Given the description of an element on the screen output the (x, y) to click on. 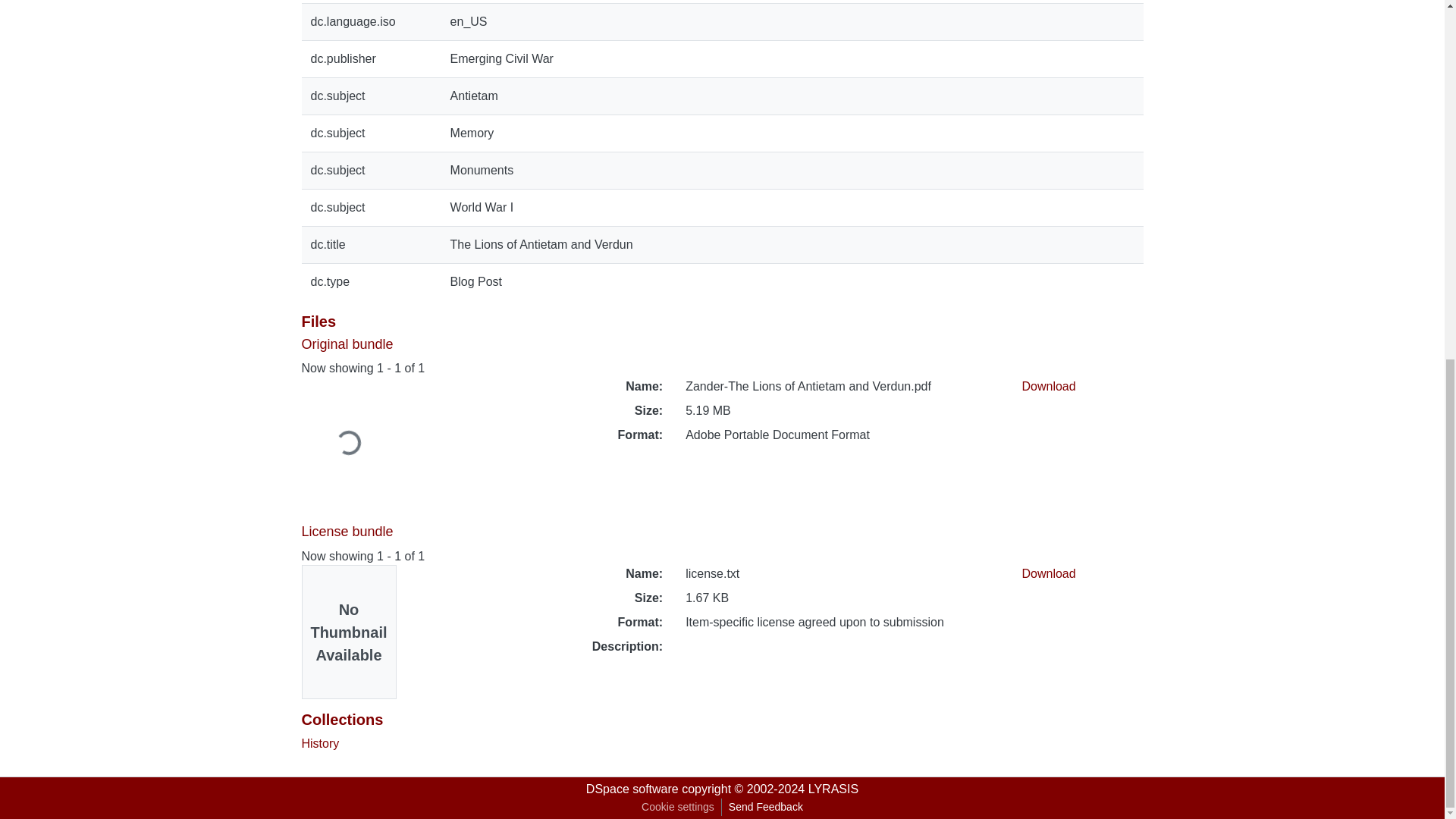
Download (1048, 573)
DSpace software (632, 788)
Download (1048, 386)
History (320, 743)
Send Feedback (765, 806)
Cookie settings (677, 806)
LYRASIS (833, 788)
